Given the description of an element on the screen output the (x, y) to click on. 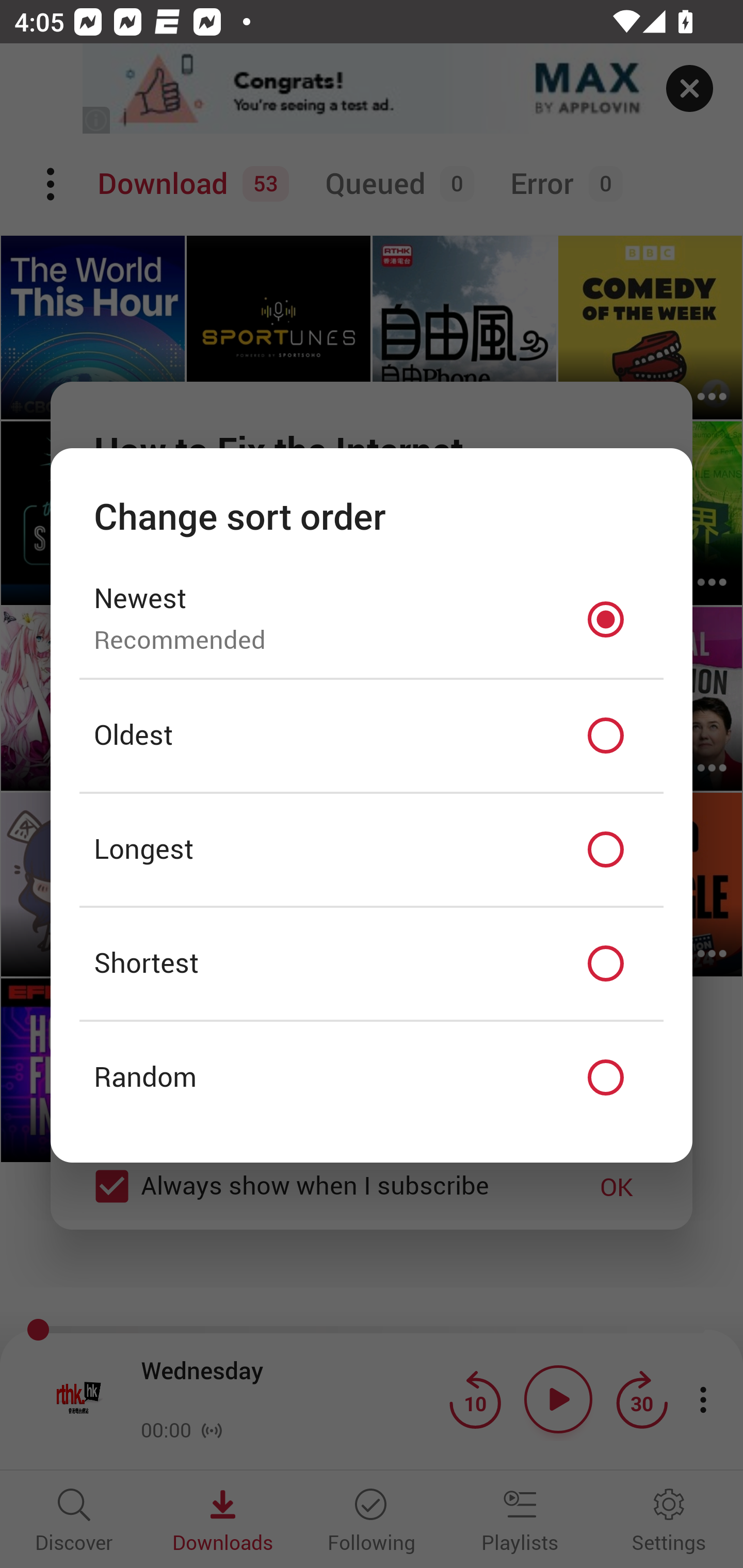
Newest Recommended (371, 619)
Oldest (371, 735)
Longest (371, 849)
Shortest (371, 963)
Random (371, 1077)
